Given the description of an element on the screen output the (x, y) to click on. 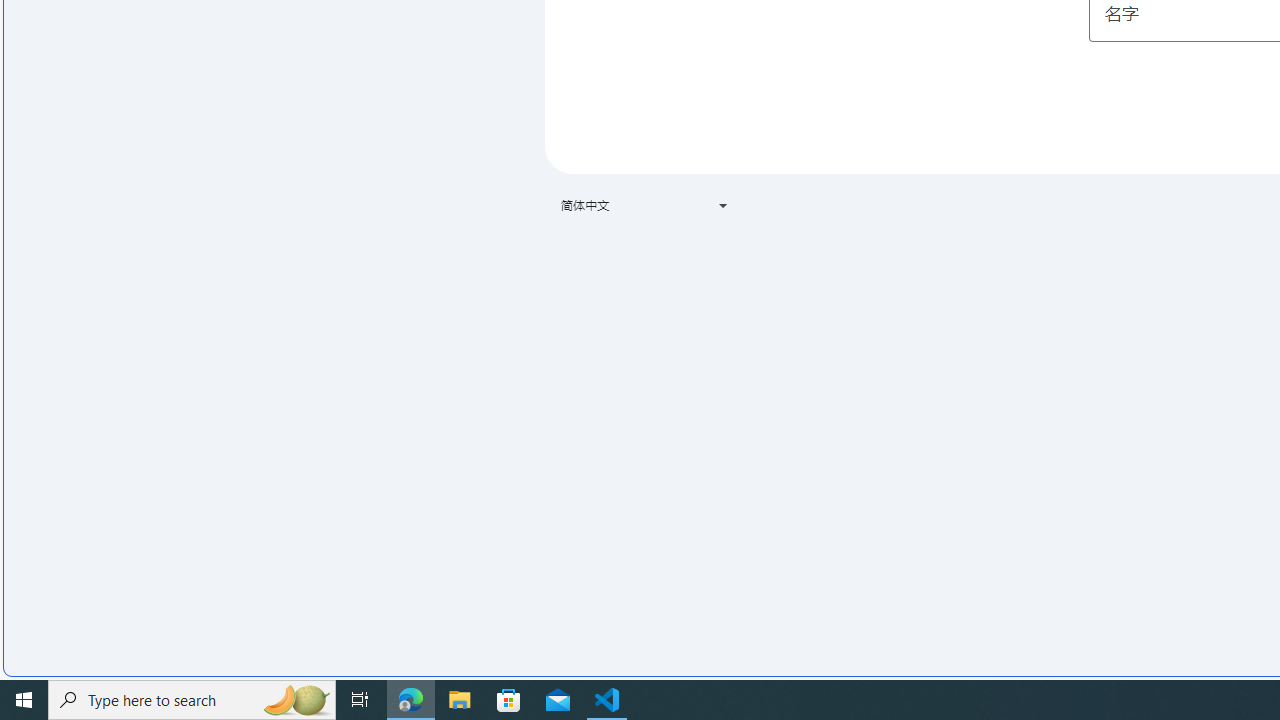
Class: VfPpkd-t08AT-Bz112c-Bd00G (723, 205)
